Given the description of an element on the screen output the (x, y) to click on. 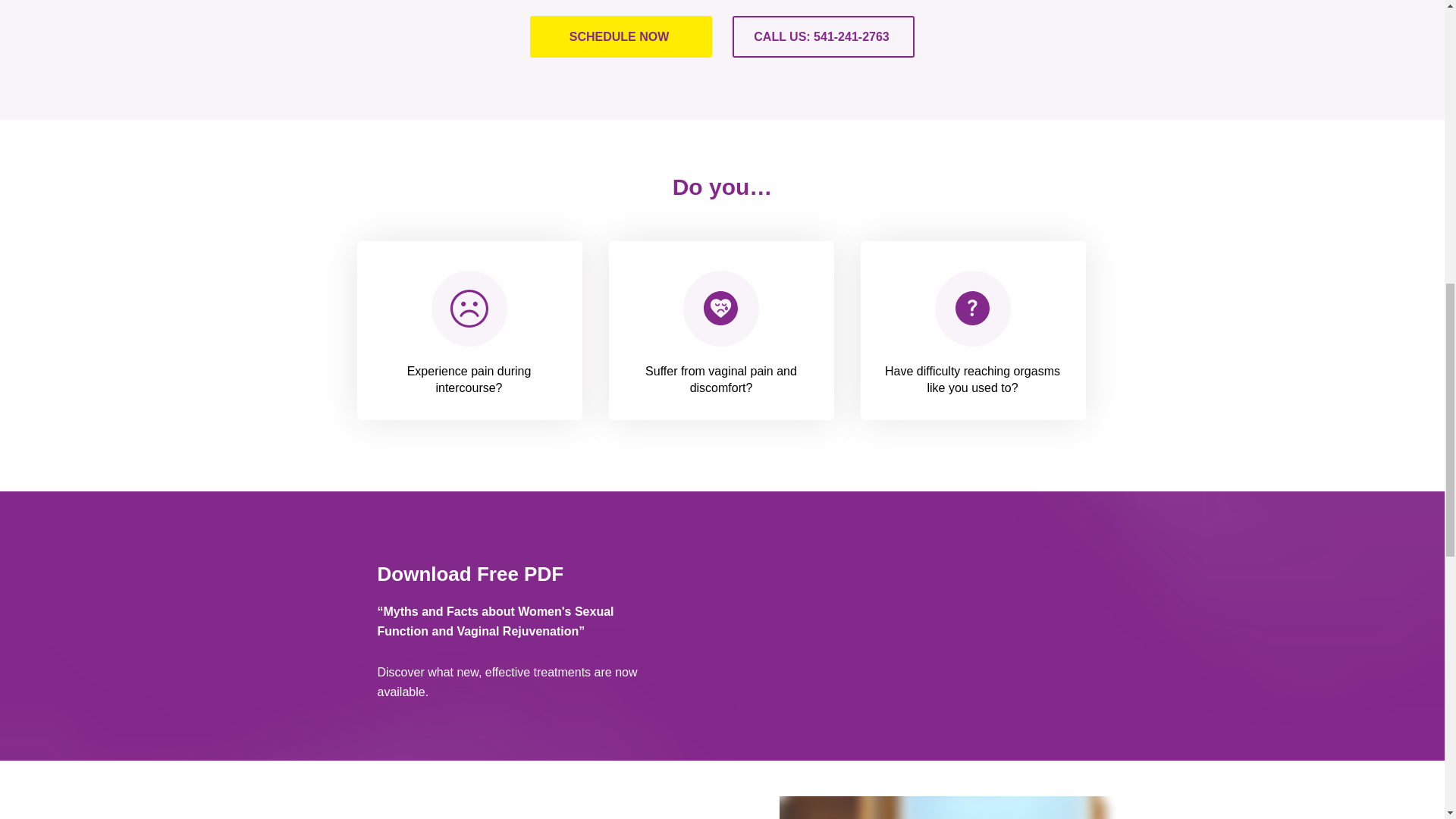
CALL US: 541-241-2763 (823, 36)
SCHEDULE NOW (620, 36)
